Given the description of an element on the screen output the (x, y) to click on. 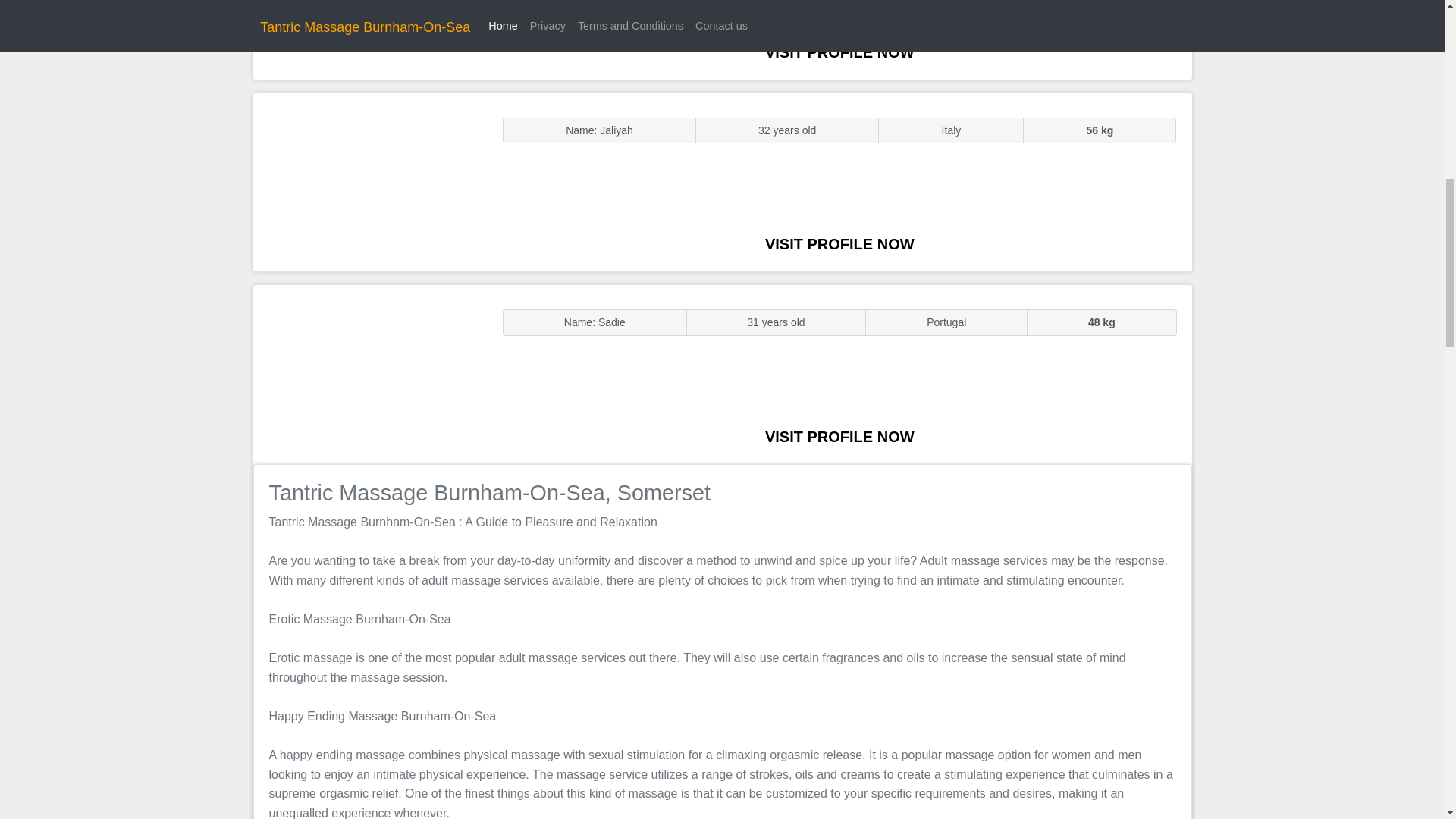
VISIT PROFILE NOW (839, 436)
Sluts (370, 182)
Sluts (370, 39)
VISIT PROFILE NOW (839, 52)
Massage (370, 374)
VISIT PROFILE NOW (839, 243)
